Given the description of an element on the screen output the (x, y) to click on. 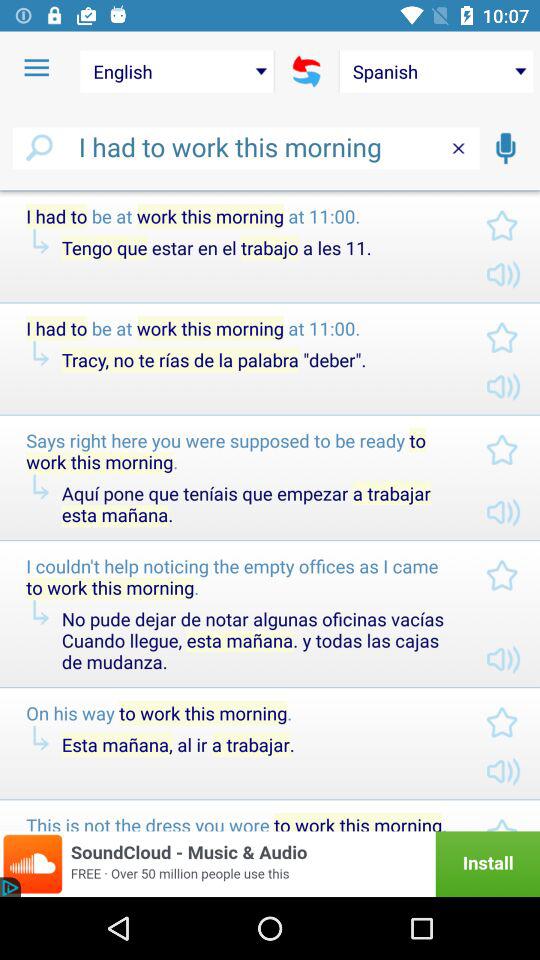
press the english item (176, 71)
